Given the description of an element on the screen output the (x, y) to click on. 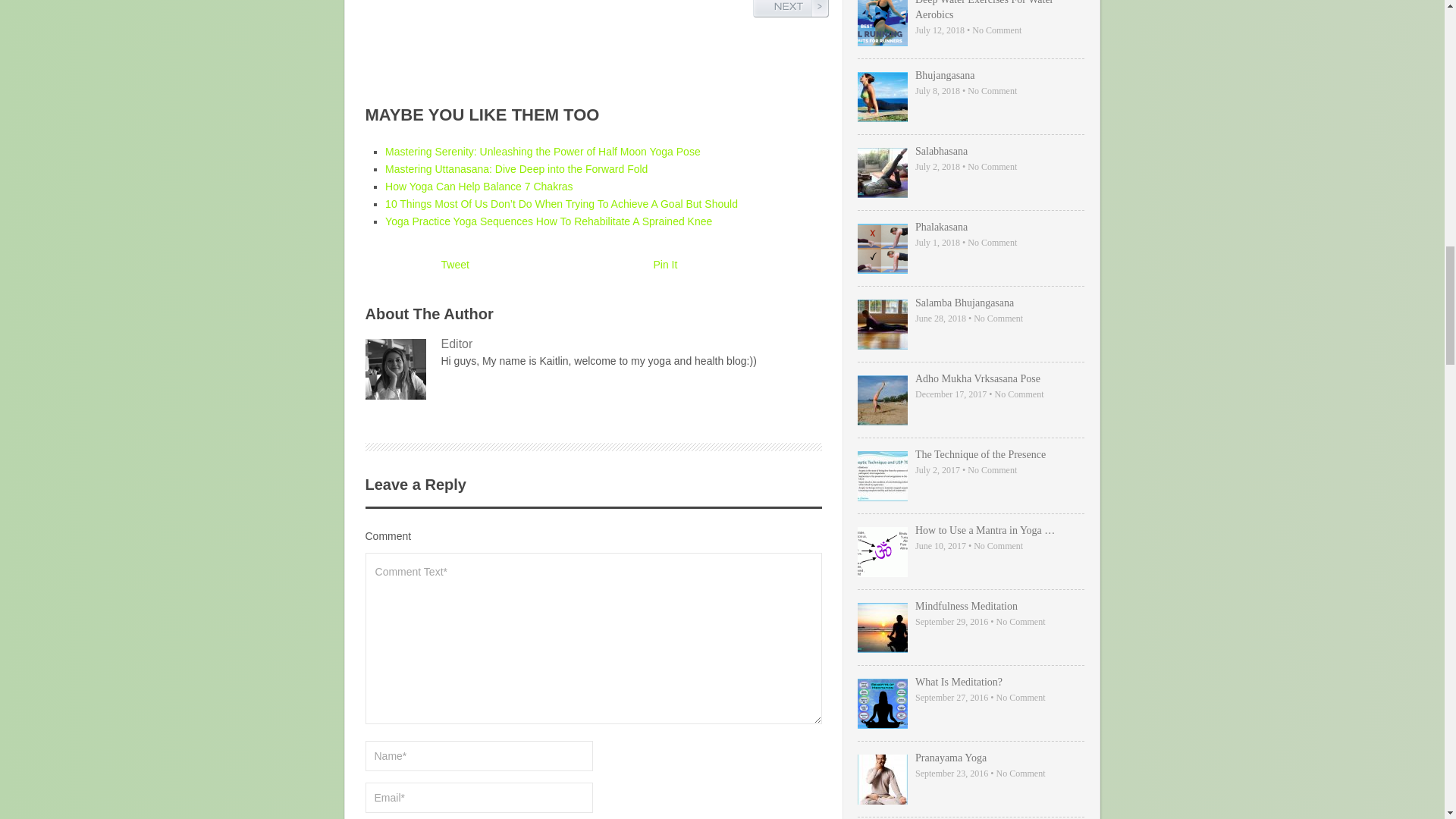
How Yoga Can Help Balance 7 Chakras (479, 186)
Mastering Uttanasana: Dive Deep into the Forward Fold (516, 168)
Editor (593, 343)
Pin It (665, 264)
Tweet (454, 264)
Mastering Uttanasana: Dive Deep into the Forward Fold (516, 168)
How Yoga Can Help Balance 7 Chakras (479, 186)
